Given the description of an element on the screen output the (x, y) to click on. 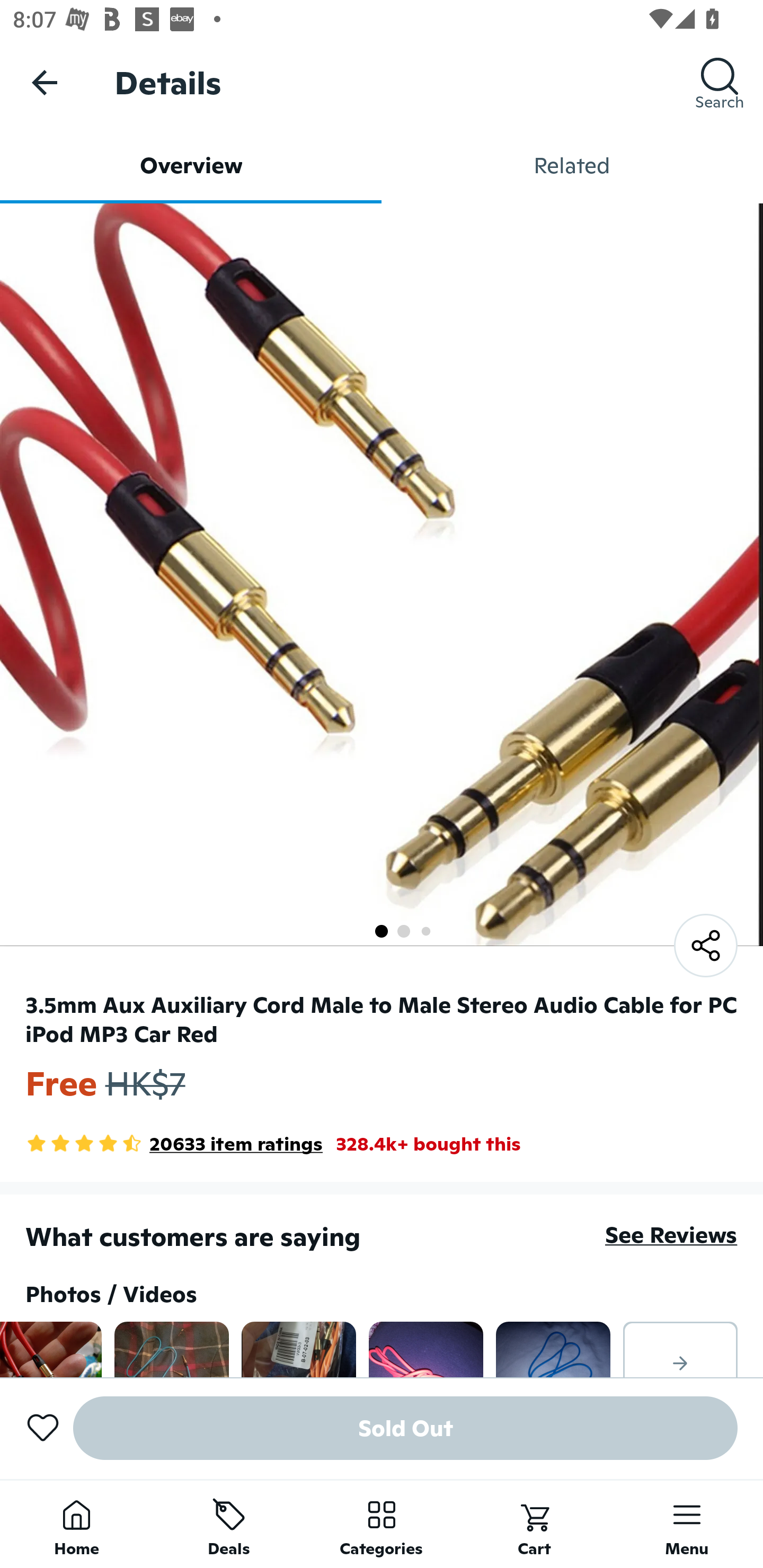
Navigate up (44, 82)
Search (719, 82)
Related (572, 165)
4.3 Star Rating 20633 item ratings (174, 1143)
See Reviews (671, 1234)
Right arrow (680, 1348)
Sold Out (405, 1428)
Home (76, 1523)
Deals (228, 1523)
Categories (381, 1523)
Cart (533, 1523)
Menu (686, 1523)
